Given the description of an element on the screen output the (x, y) to click on. 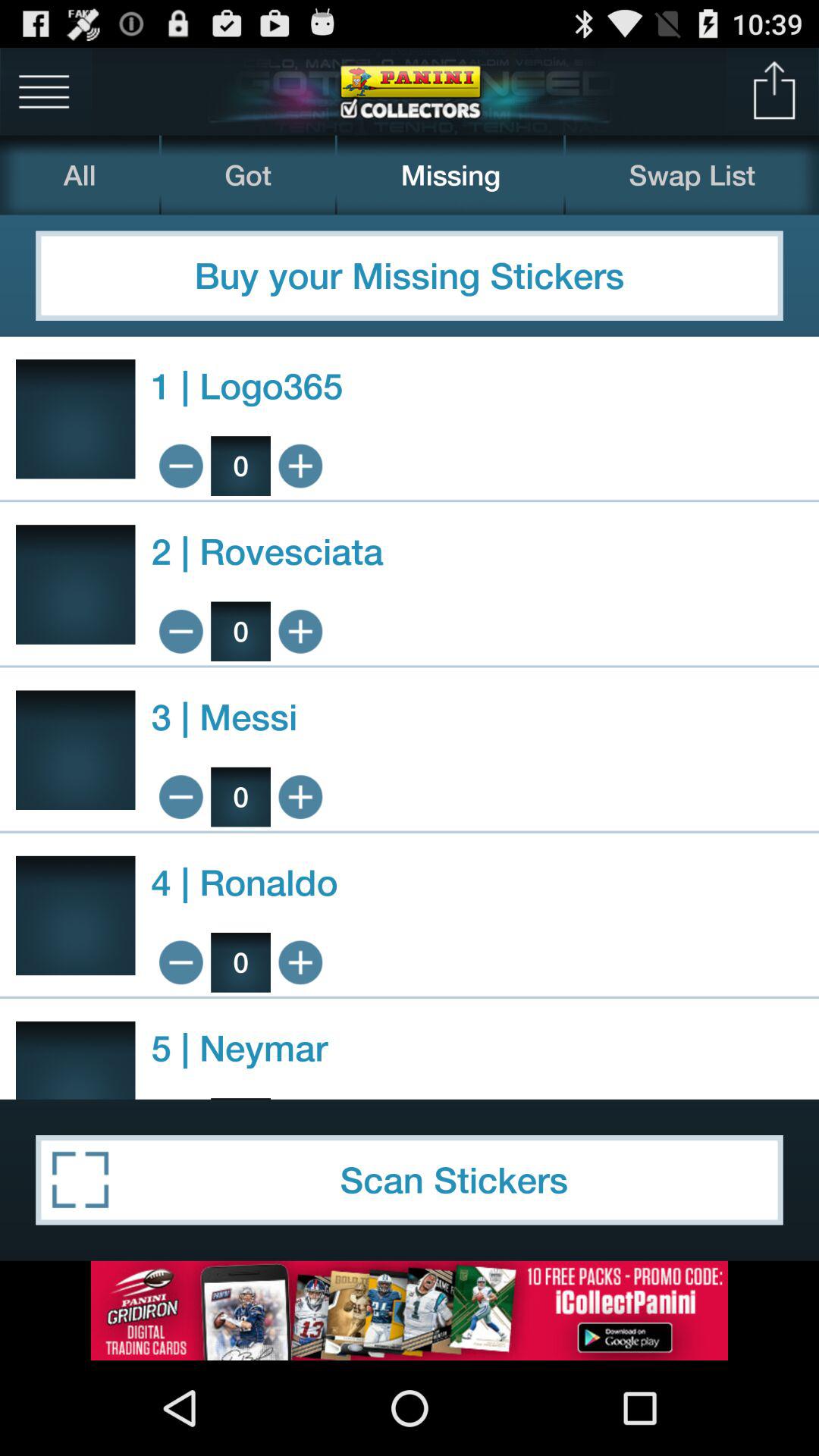
minuses amount (181, 631)
